Given the description of an element on the screen output the (x, y) to click on. 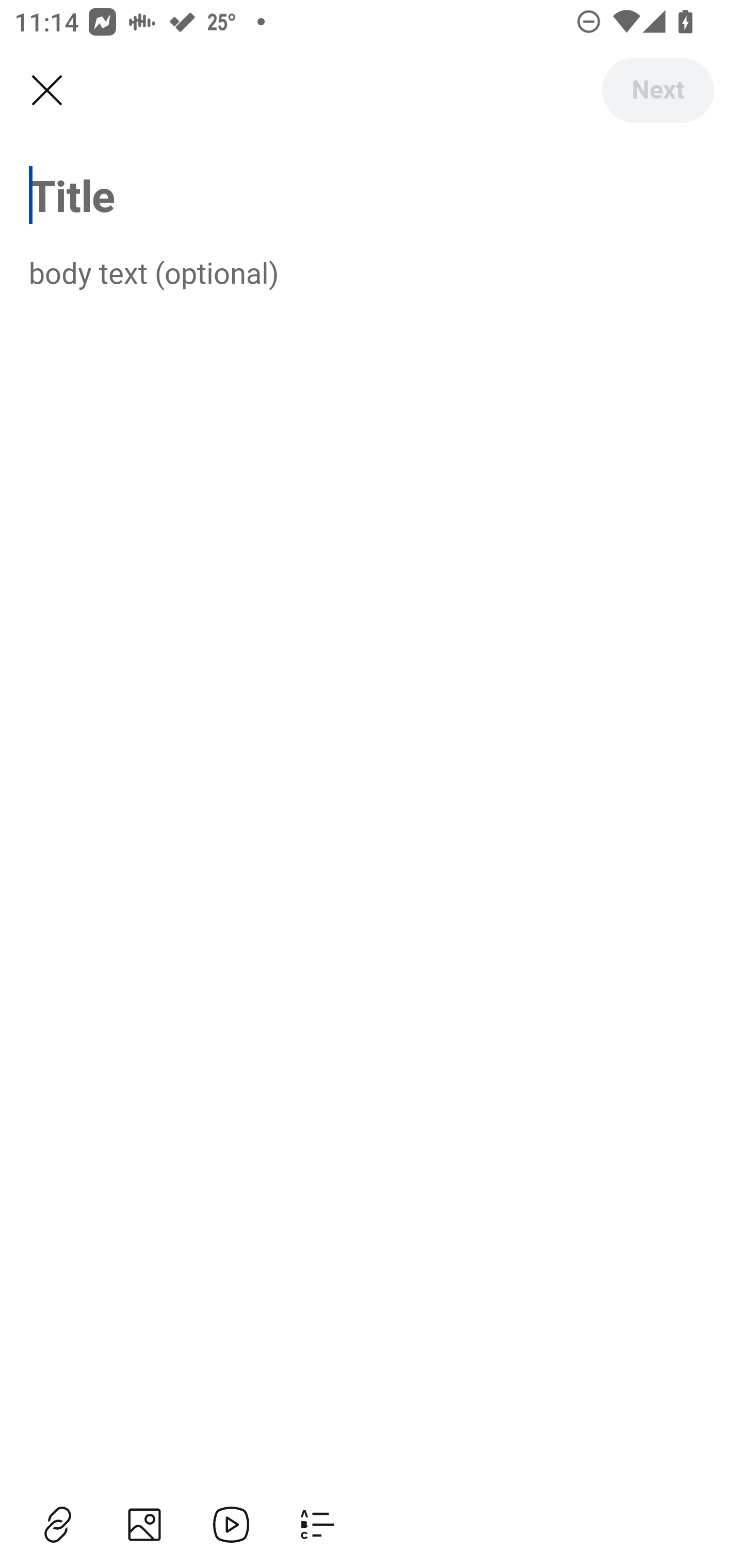
Close (46, 90)
Next (657, 90)
Post title (371, 195)
body text (optional) (371, 271)
